Given the description of an element on the screen output the (x, y) to click on. 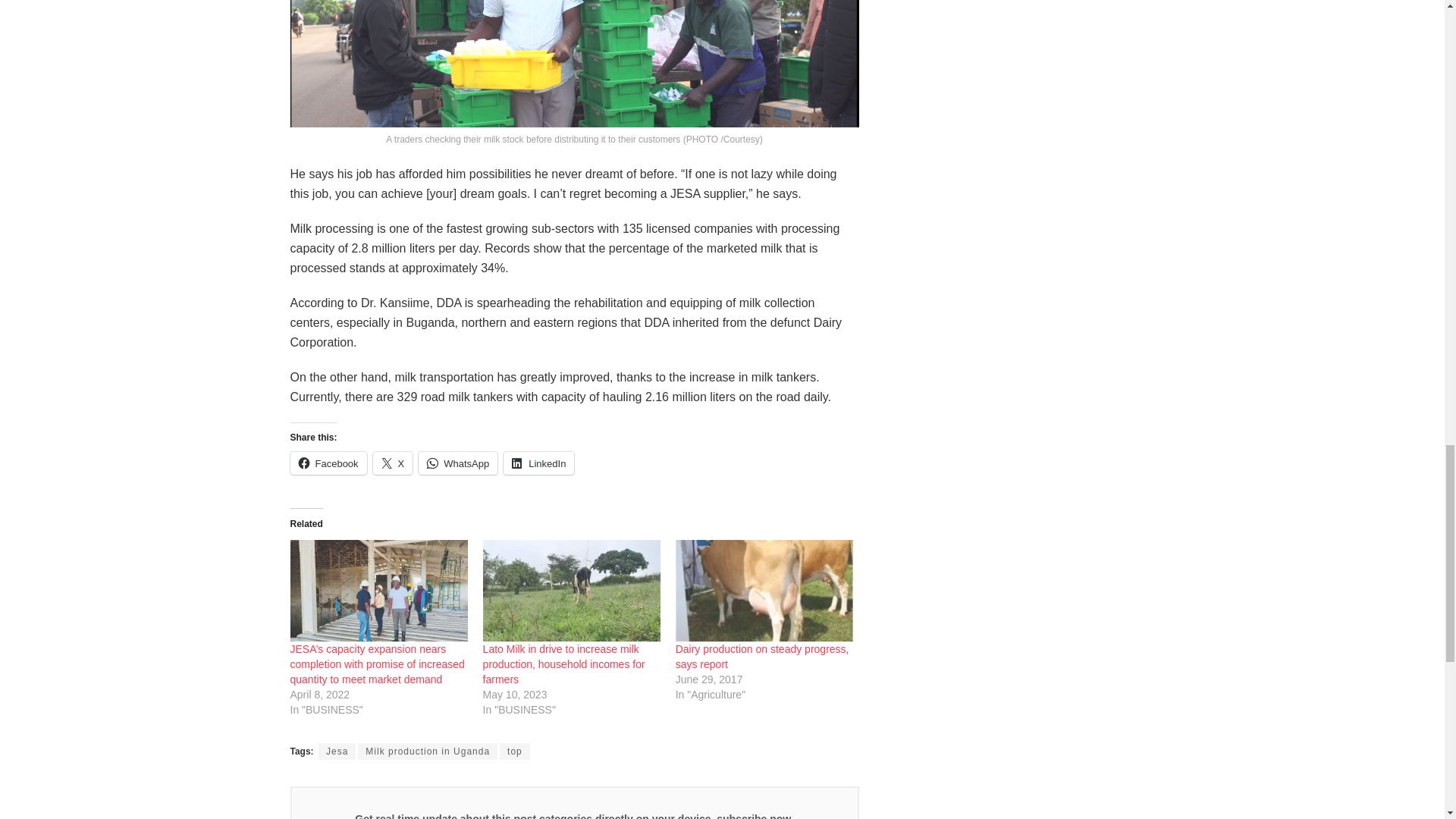
Click to share on Facebook (327, 463)
Click to share on LinkedIn (538, 463)
Dairy production on steady progress, says report (761, 656)
Dairy production on steady progress, says report (764, 590)
Click to share on WhatsApp (458, 463)
Click to share on X (392, 463)
